Given the description of an element on the screen output the (x, y) to click on. 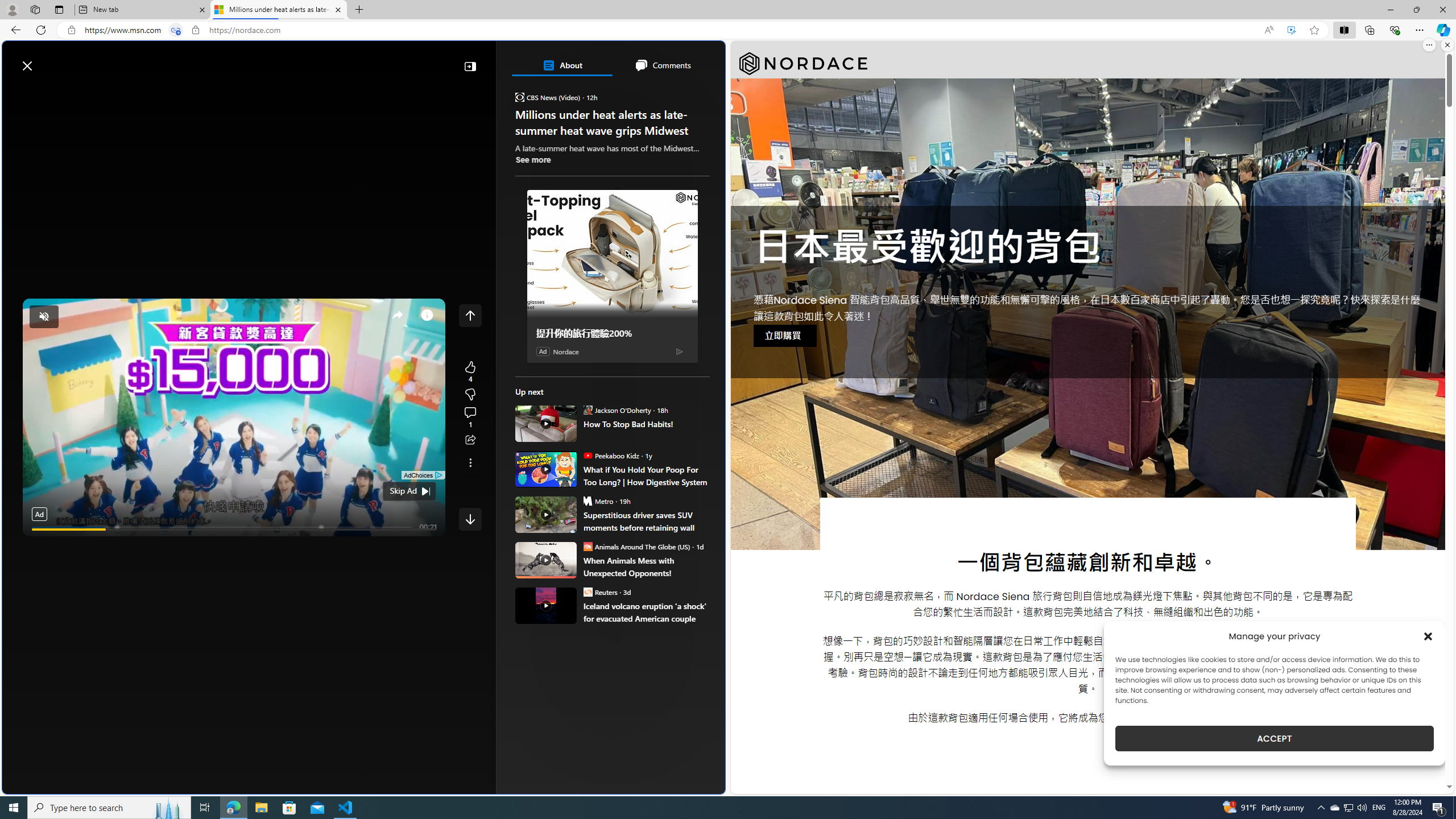
Share this story (469, 440)
Animals Around The Globe (US) Animals Around The Globe (US) (636, 546)
Peekaboo Kidz (587, 455)
About (561, 64)
Unmute (430, 543)
Reuters Reuters (599, 591)
Tabs in split screen (175, 29)
